Given the description of an element on the screen output the (x, y) to click on. 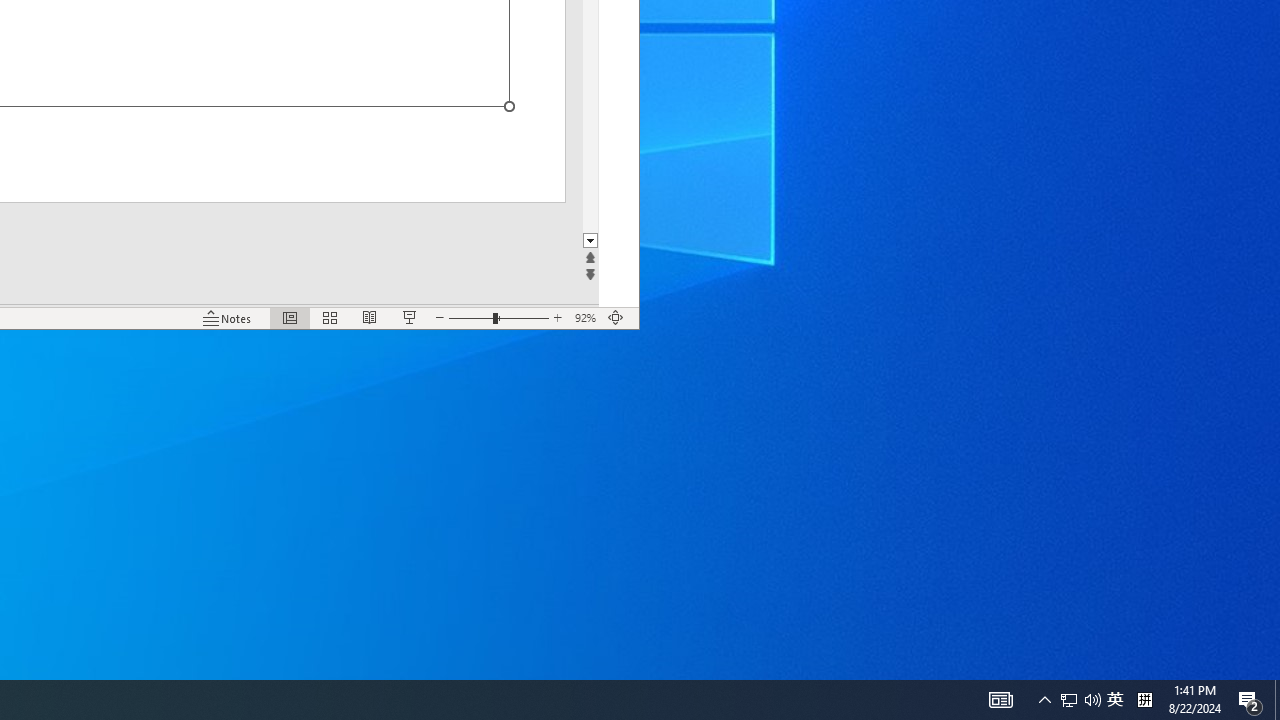
Zoom 92% (585, 318)
